Given the description of an element on the screen output the (x, y) to click on. 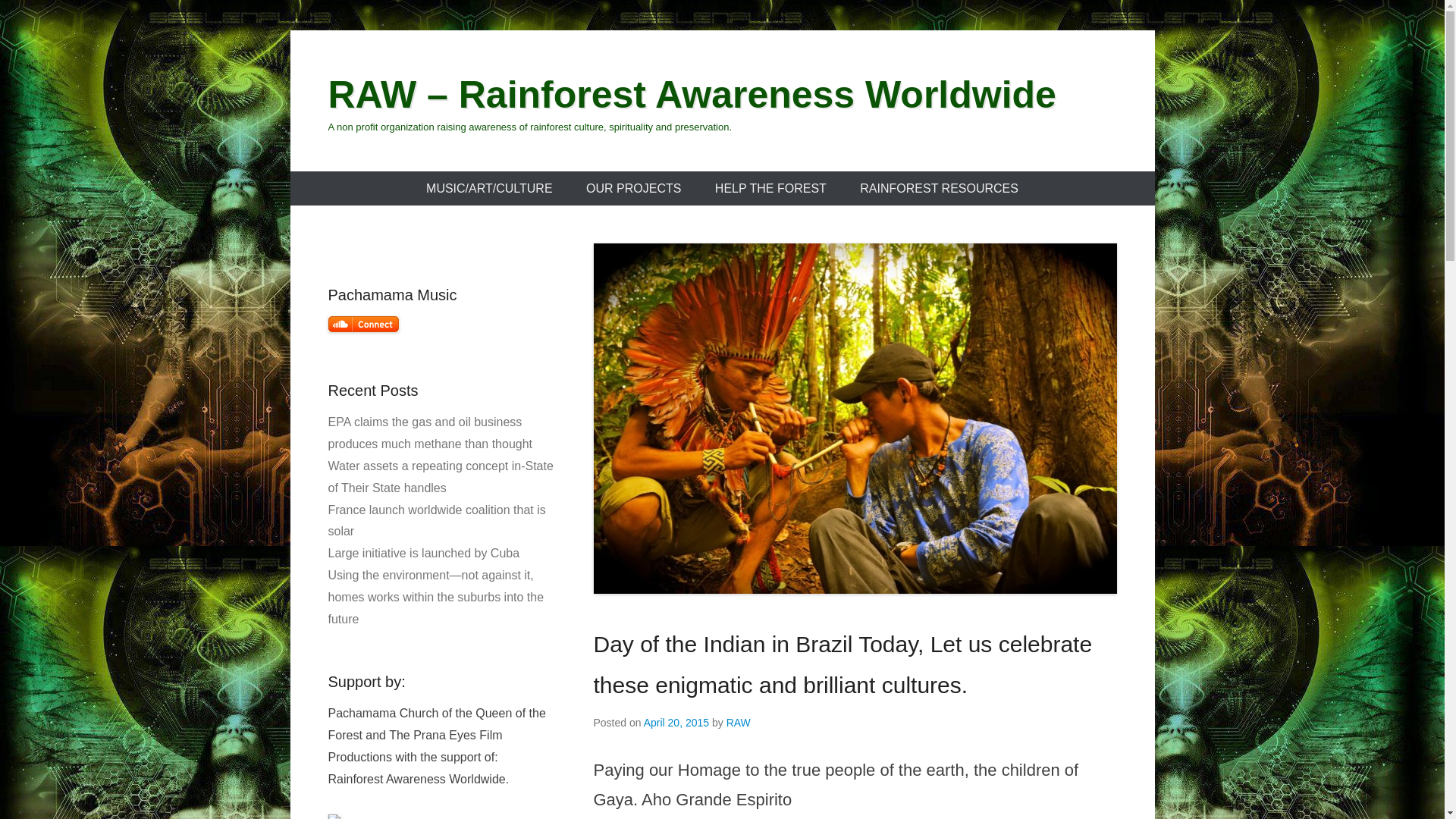
Search (32, 15)
RAINFOREST RESOURCES (938, 188)
Skip to content (329, 181)
View all posts by RAW (738, 722)
HELP THE FOREST (770, 188)
France launch worldwide coalition that is solar (435, 520)
Large initiative is launched by Cuba (423, 553)
April 20, 2015 (676, 722)
